Given the description of an element on the screen output the (x, y) to click on. 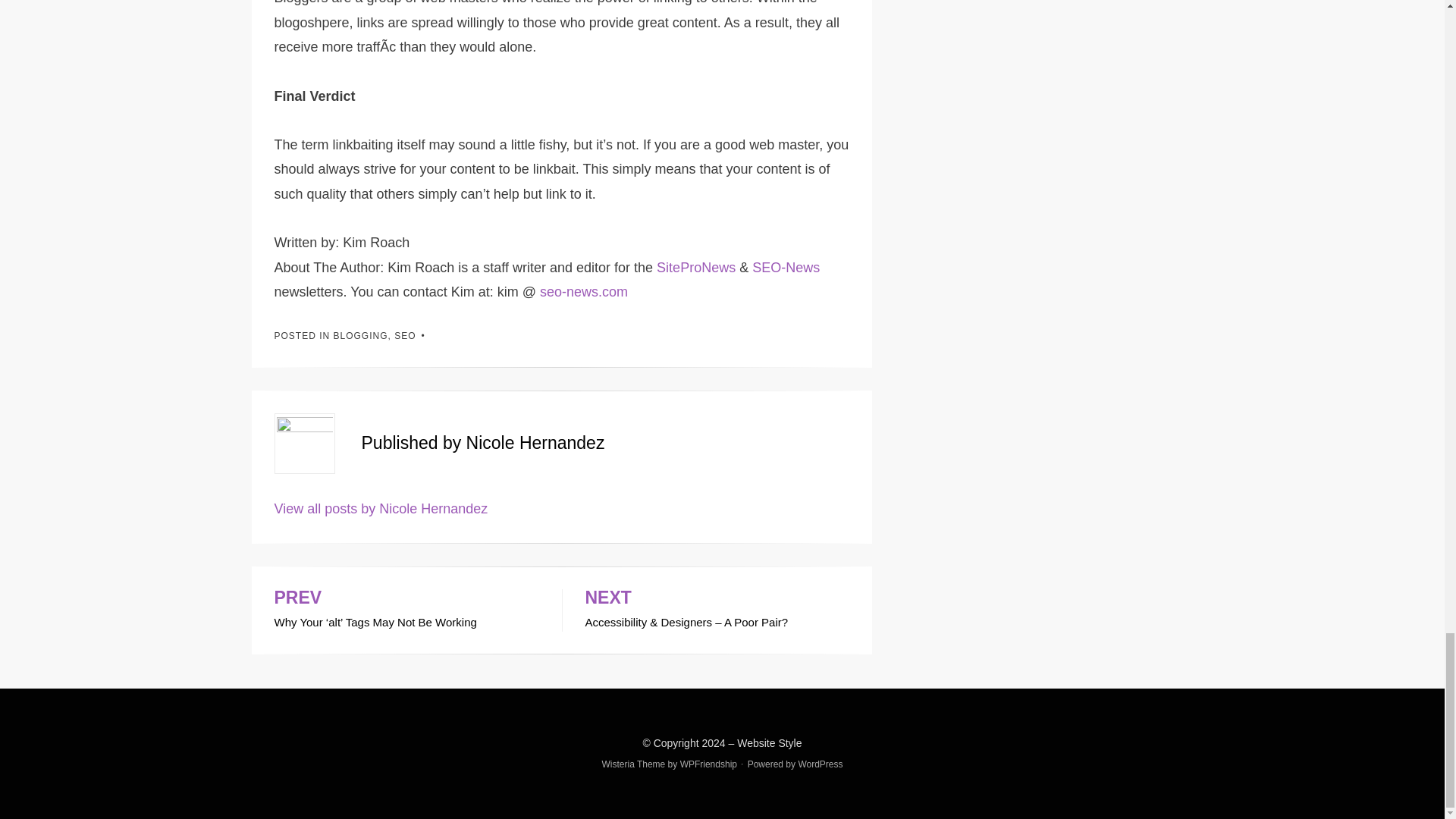
WordPress (820, 764)
BLOGGING (360, 335)
SiteProNews (695, 267)
WPFriendship (707, 764)
SEO-News (785, 267)
View all posts by Nicole Hernandez (381, 508)
SEO (404, 335)
seo-news.com (583, 291)
WordPress (820, 764)
Website Style (769, 743)
